Given the description of an element on the screen output the (x, y) to click on. 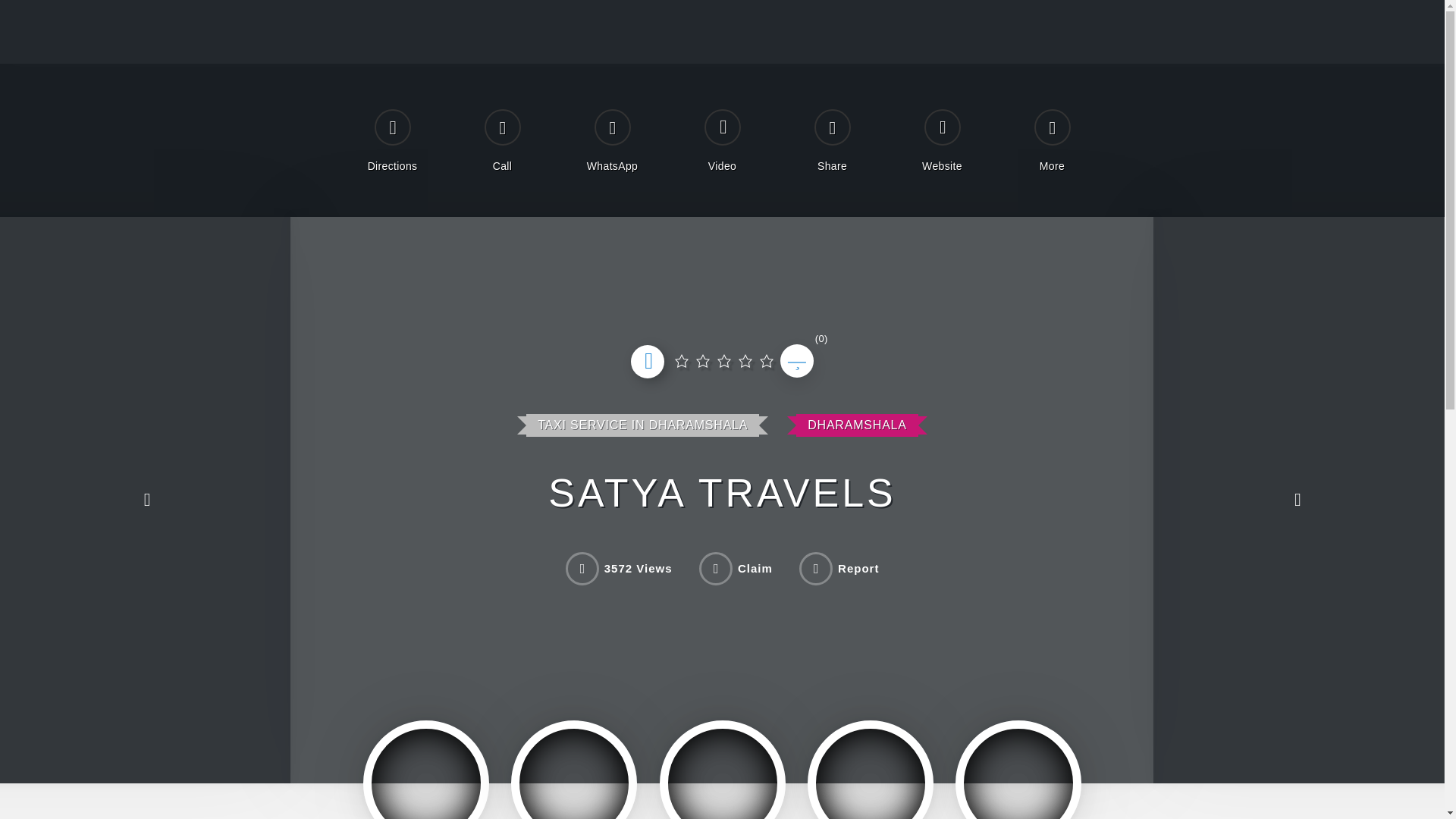
Satya Travels (870, 770)
Satya Travels (425, 770)
Satya Travels (573, 770)
Satya Travels (1018, 770)
Satya Travels (722, 770)
